Given the description of an element on the screen output the (x, y) to click on. 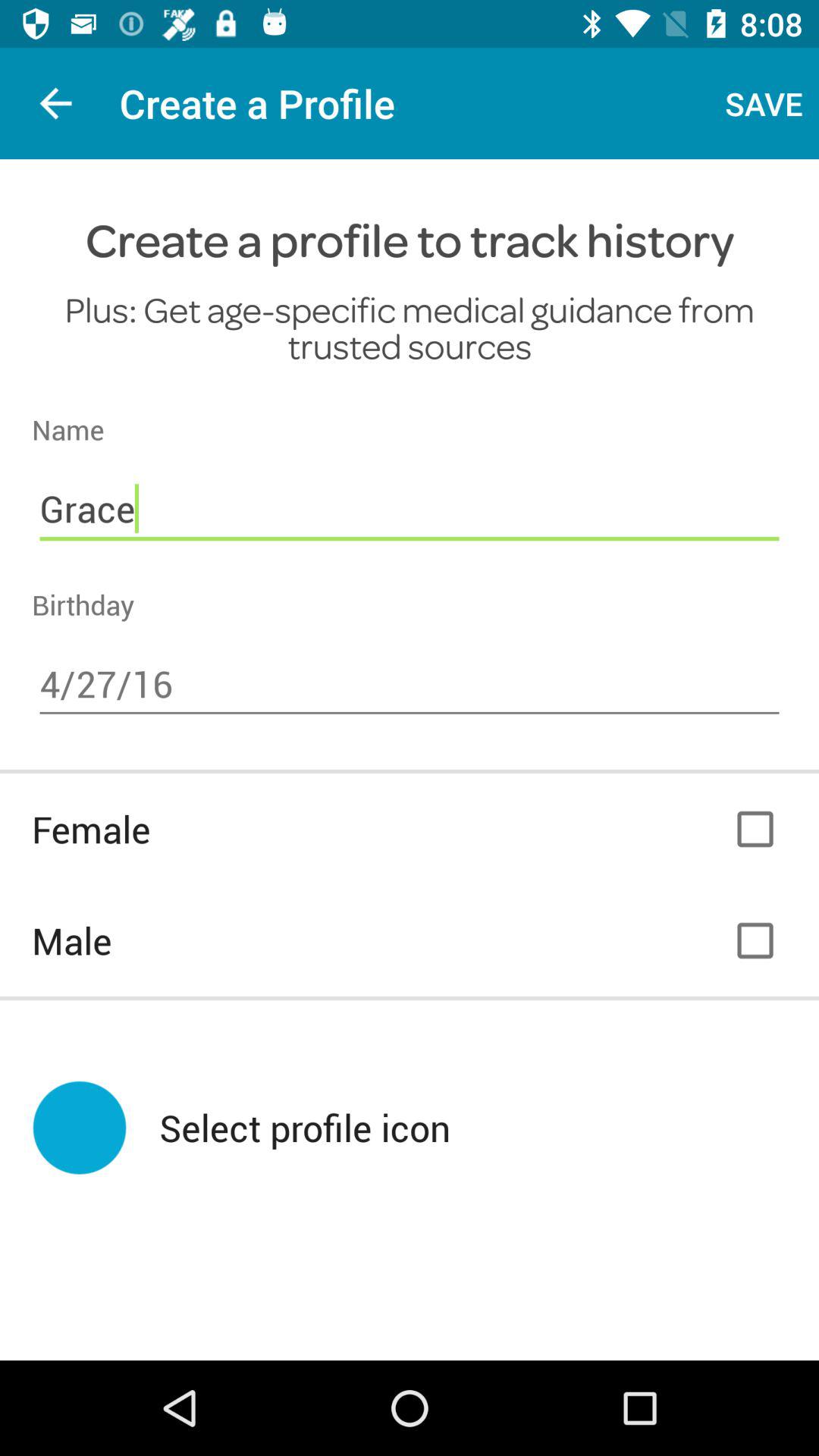
select the gender female (755, 828)
